Given the description of an element on the screen output the (x, y) to click on. 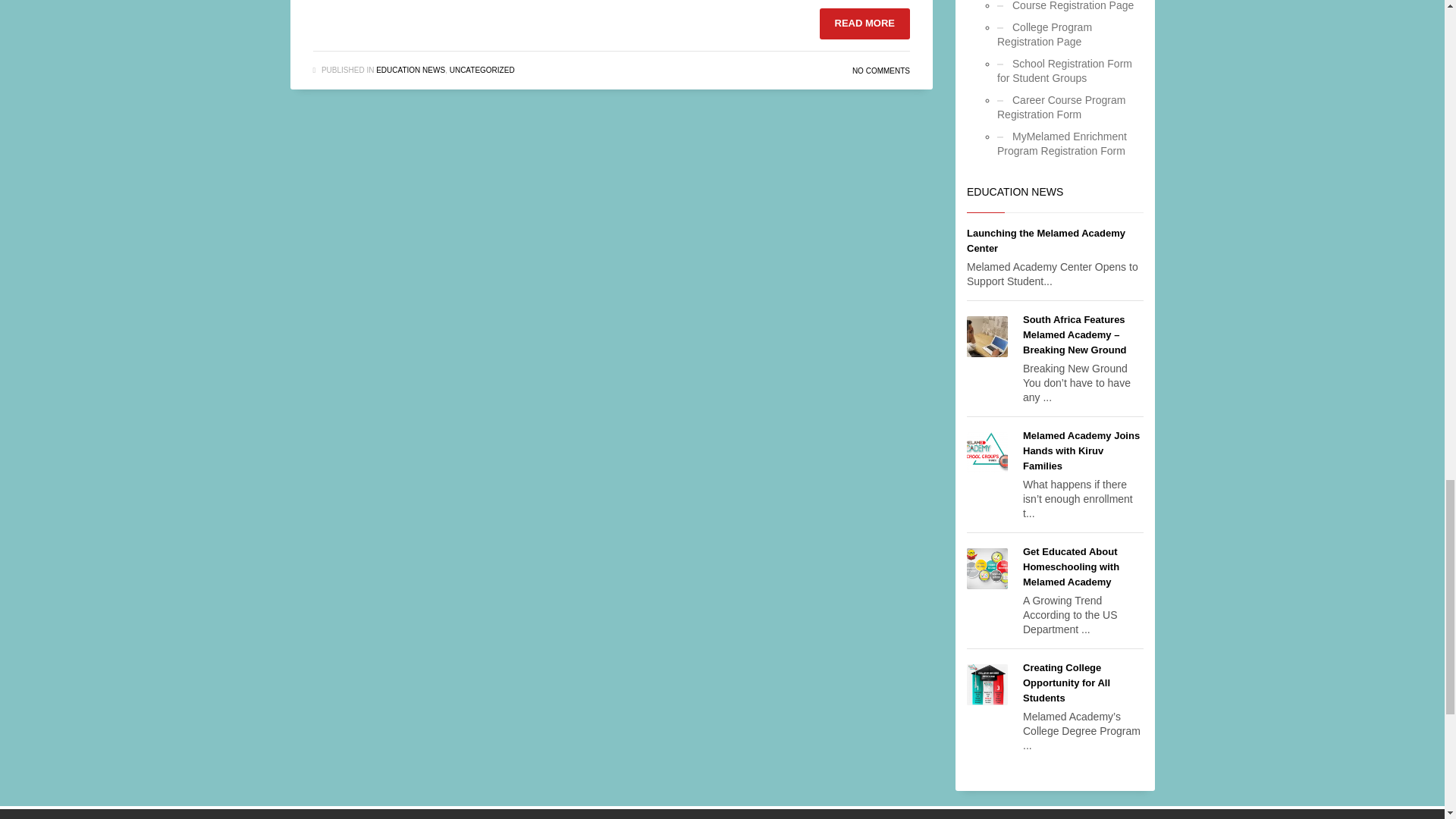
Creating College Opportunity for All Students (1066, 682)
Launching the Melamed Academy Center (1045, 240)
Melamed Academy Joins Hands with Kiruv Families (1081, 450)
Get Educated About Homeschooling with Melamed Academy (1071, 567)
